Given the description of an element on the screen output the (x, y) to click on. 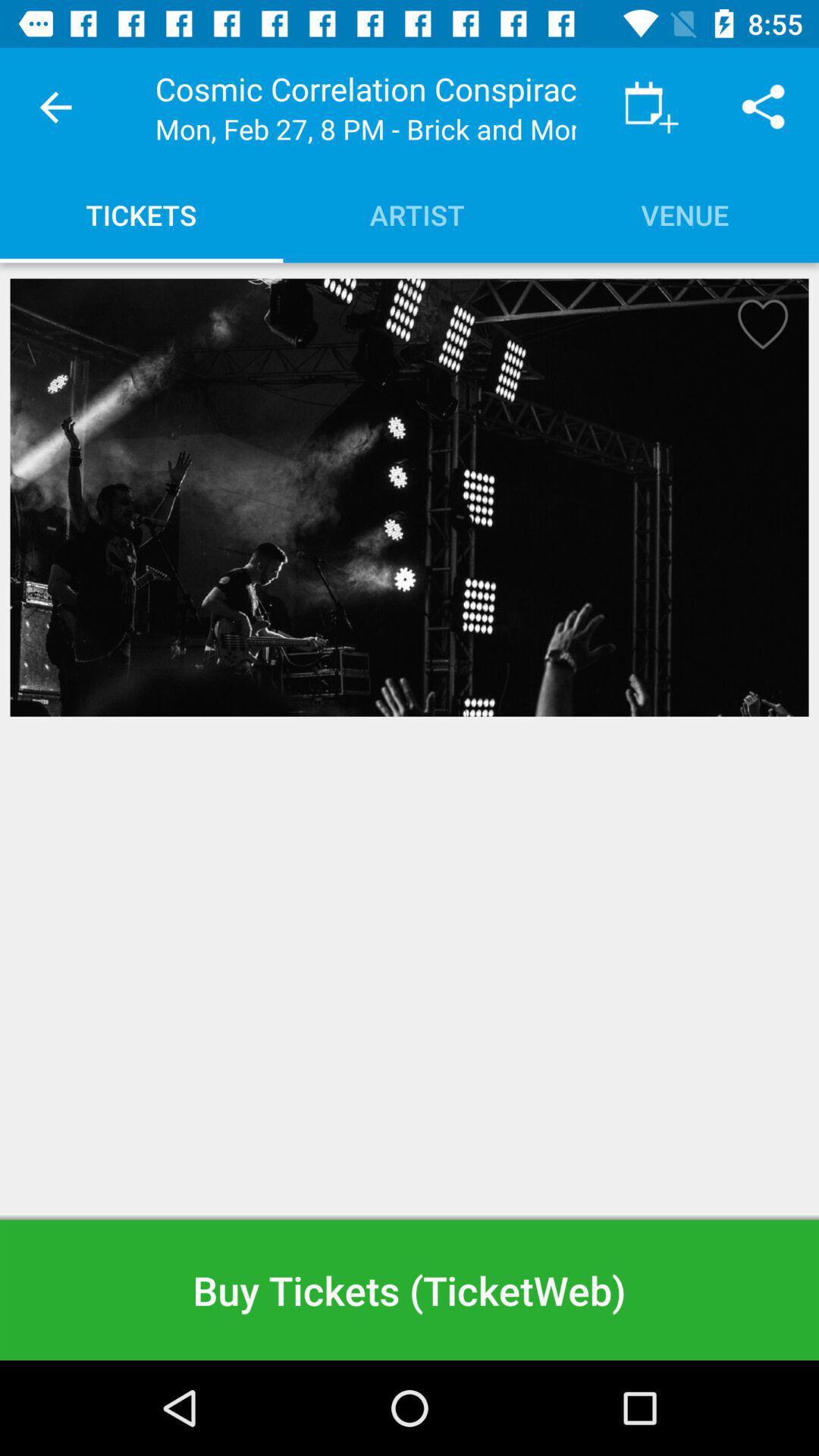
tap buy tickets (ticketweb) (409, 1289)
